Given the description of an element on the screen output the (x, y) to click on. 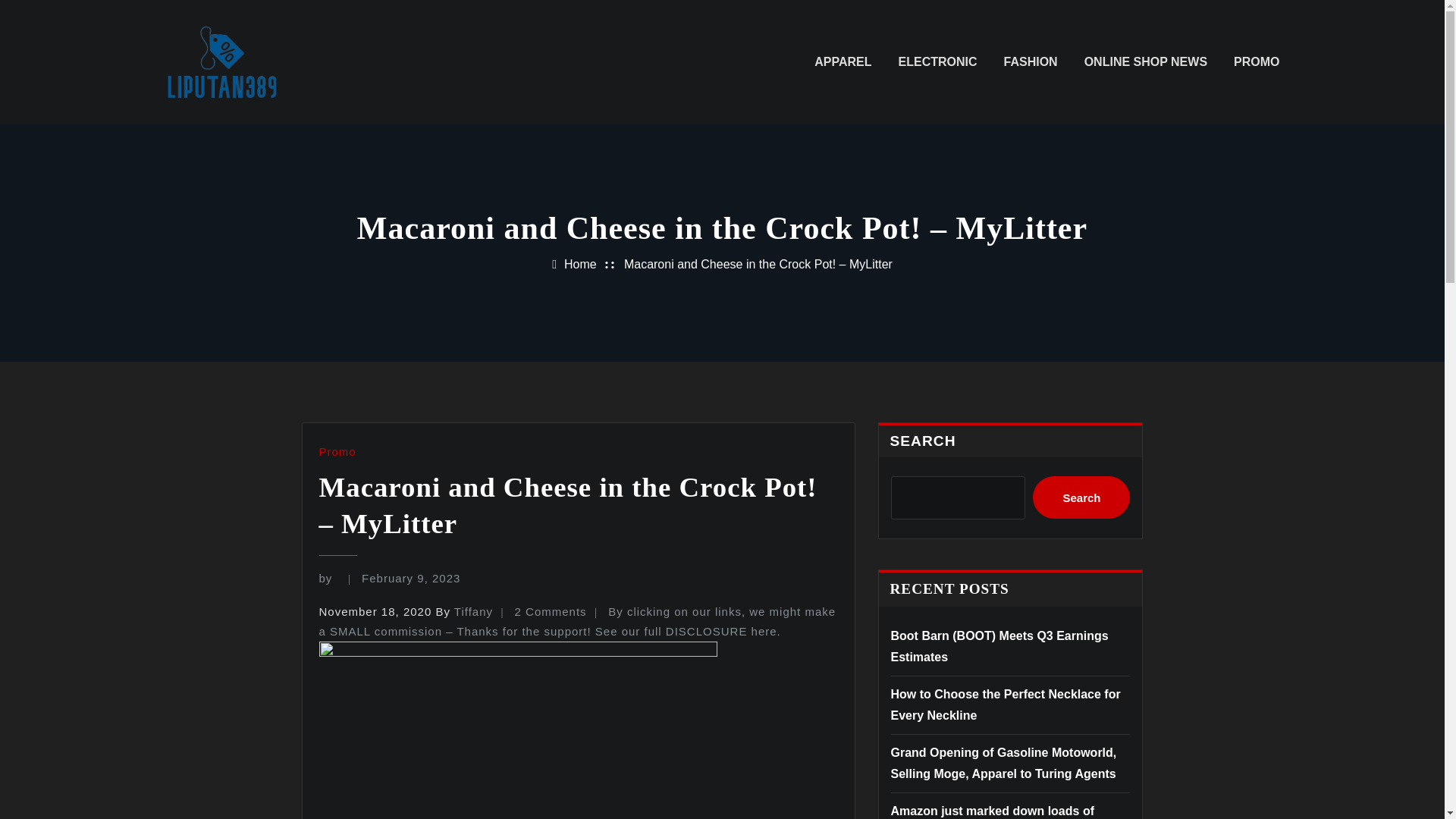
Promo (336, 451)
February 9, 2023 (410, 577)
PROMO (1256, 61)
Home (580, 264)
by (328, 577)
Search (1080, 496)
FASHION (1031, 61)
How to Choose the Perfect Necklace for Every Neckline (1004, 704)
ONLINE SHOP NEWS (1145, 61)
